Given the description of an element on the screen output the (x, y) to click on. 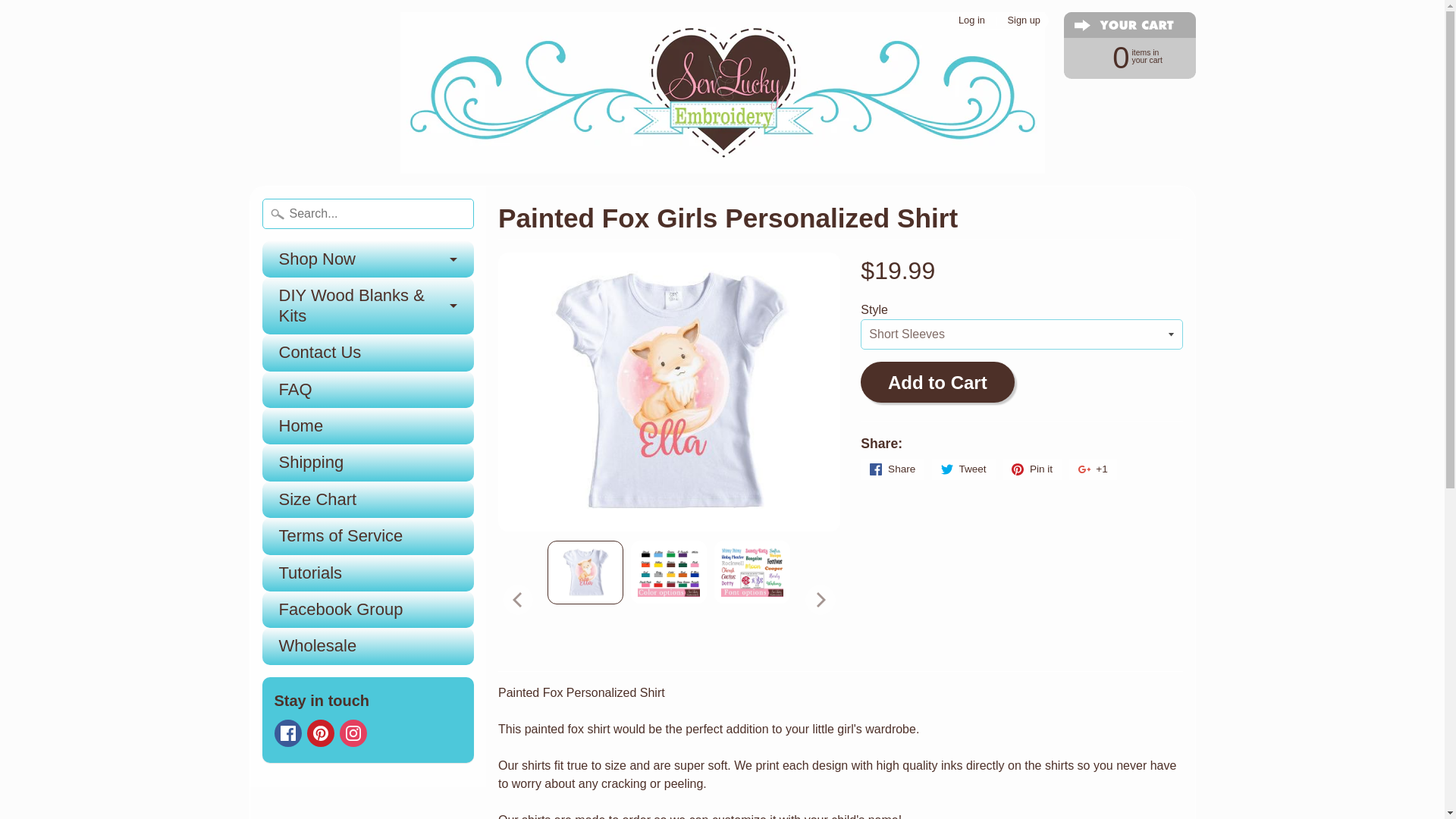
Sign up (1024, 20)
Log in (970, 20)
Sew Lucky Embroidery (1122, 56)
Shop Now (722, 92)
